Given the description of an element on the screen output the (x, y) to click on. 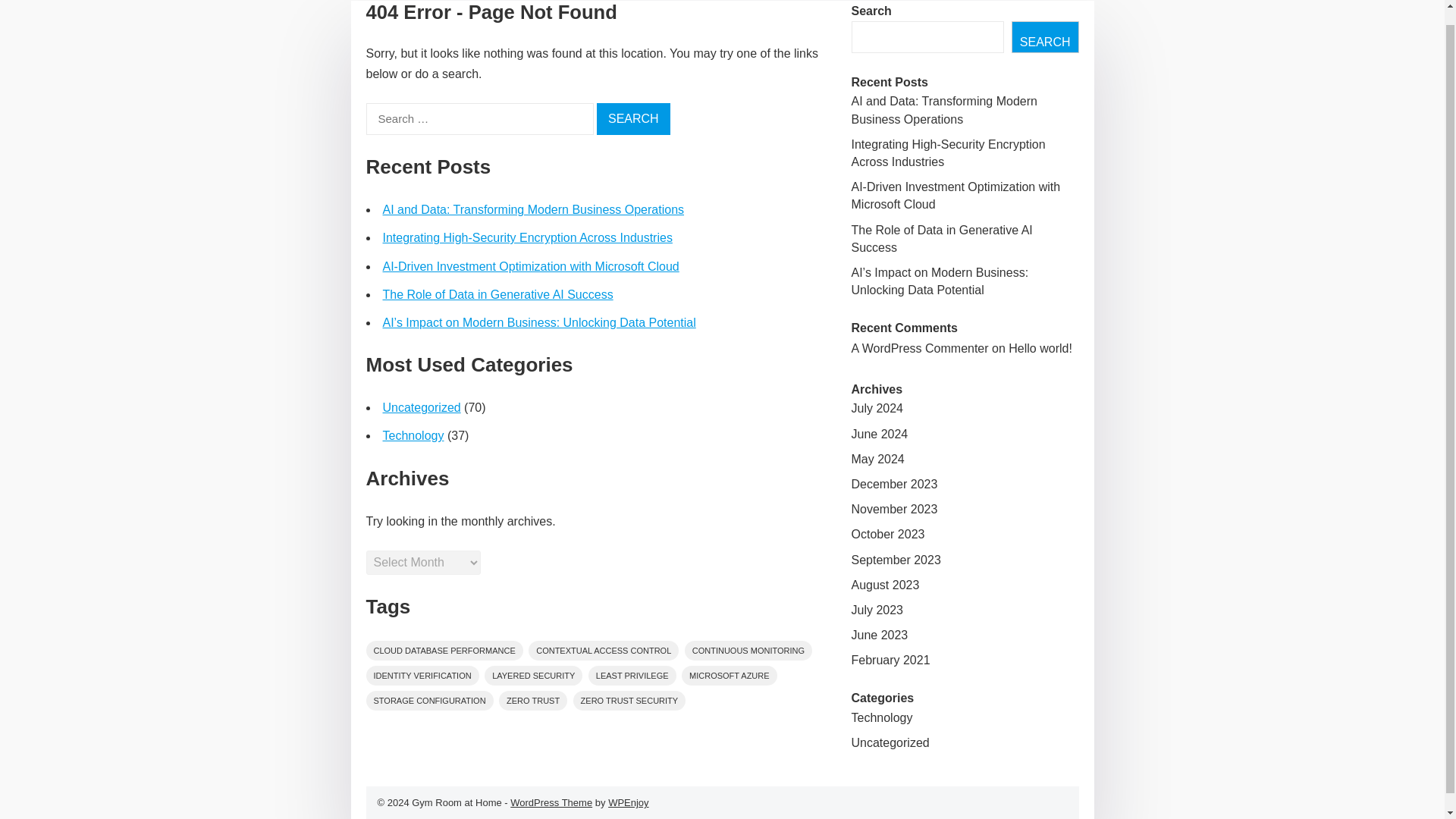
AI-Driven Investment Optimization with Microsoft Cloud (529, 266)
The Role of Data in Generative AI Success (496, 294)
A WordPress Commenter (919, 348)
AI-Driven Investment Optimization with Microsoft Cloud (954, 195)
LAYERED SECURITY (533, 675)
Technology (412, 435)
Search (632, 119)
Hello world! (1040, 348)
IDENTITY VERIFICATION (422, 675)
MICROSOFT AZURE (729, 675)
Integrating High-Security Encryption Across Industries (947, 153)
SEARCH (1044, 37)
Uncategorized (420, 407)
July 2024 (876, 408)
The Role of Data in Generative AI Success (941, 238)
